Given the description of an element on the screen output the (x, y) to click on. 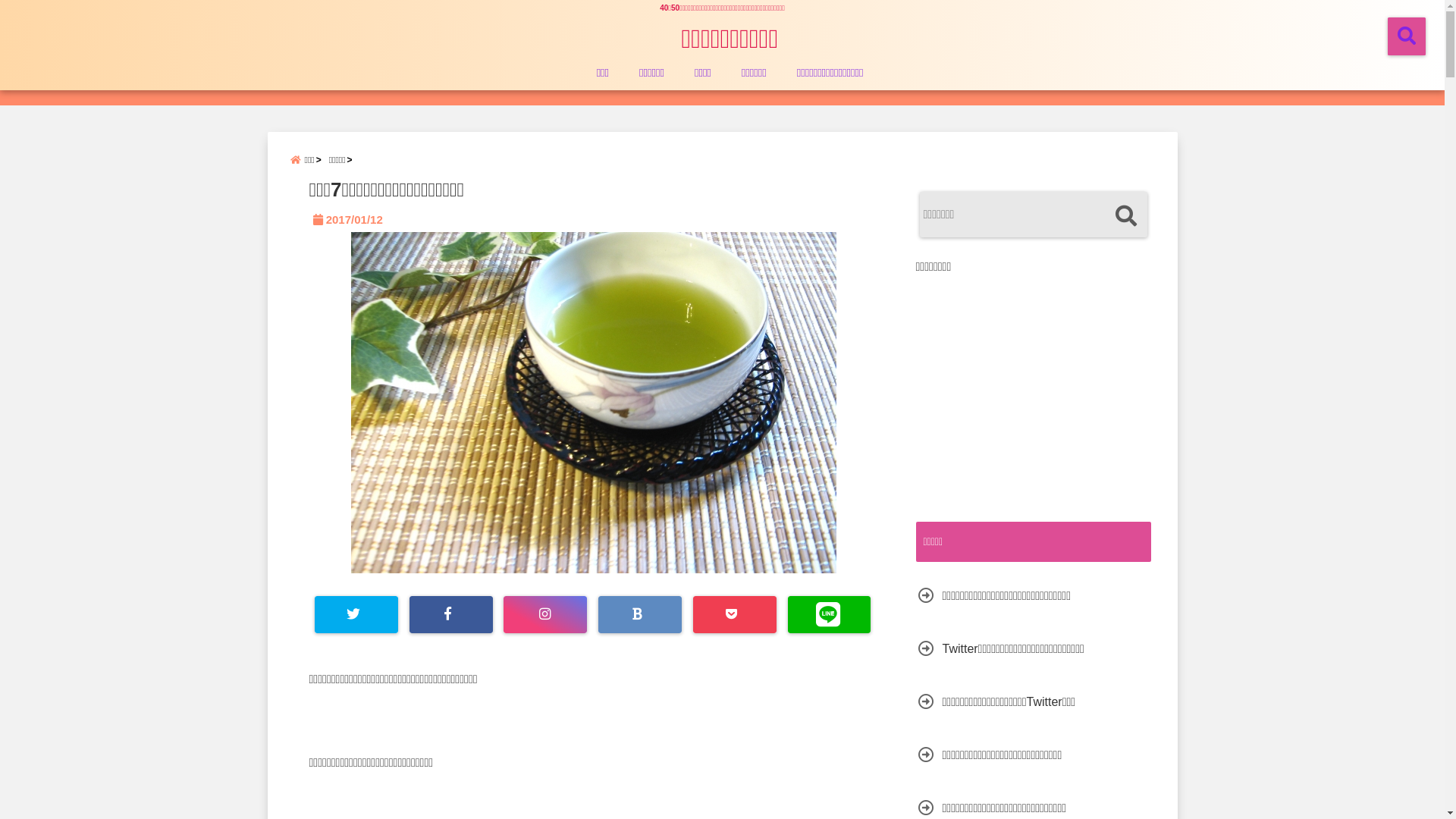
Advertisement Element type: hover (1043, 388)
Search Element type: text (1125, 216)
